Given the description of an element on the screen output the (x, y) to click on. 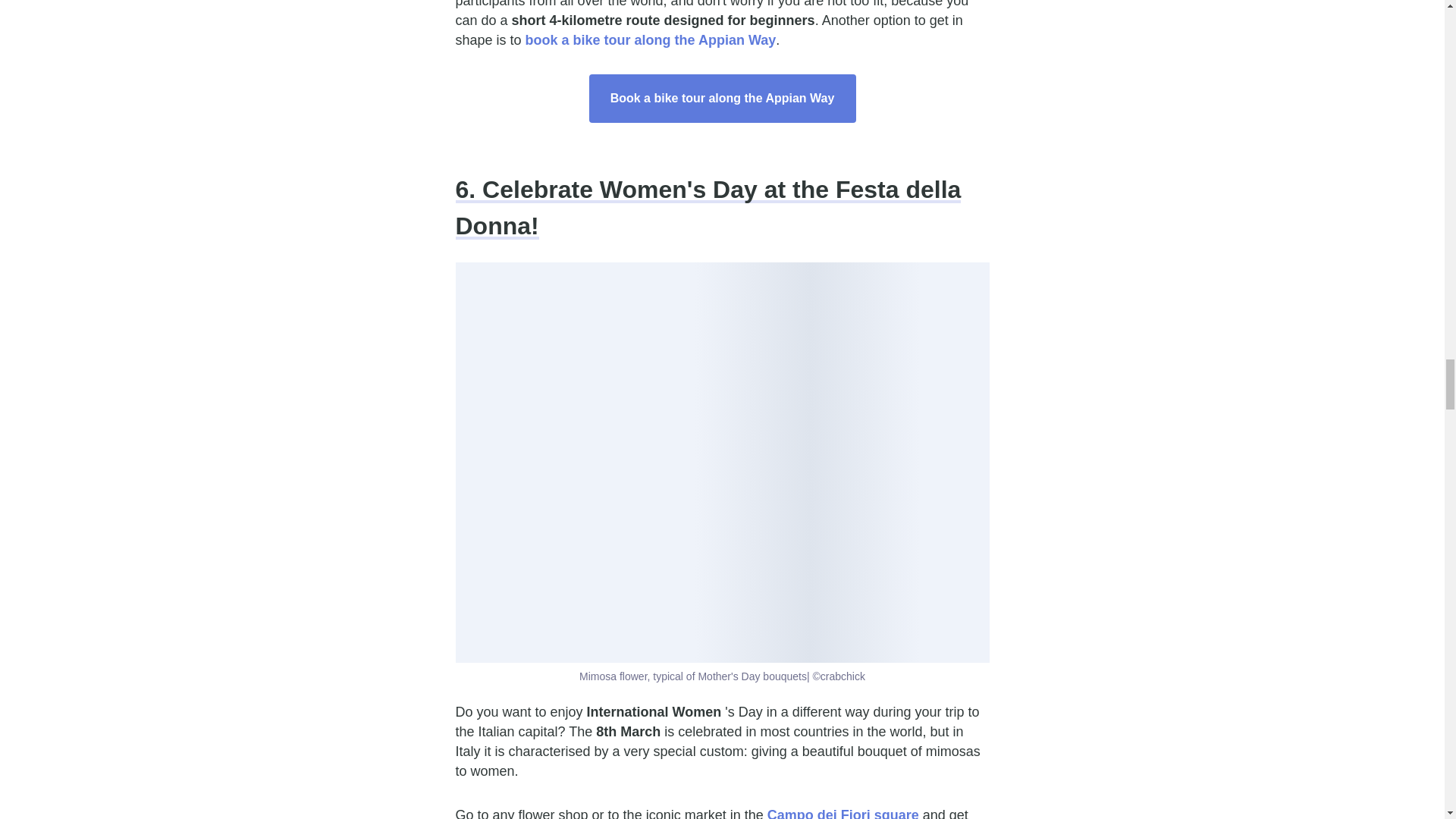
Book a bike tour along the Appian Way (722, 98)
book a bike tour along the Appian Way (650, 39)
Campo dei Fiori square (842, 813)
